Given the description of an element on the screen output the (x, y) to click on. 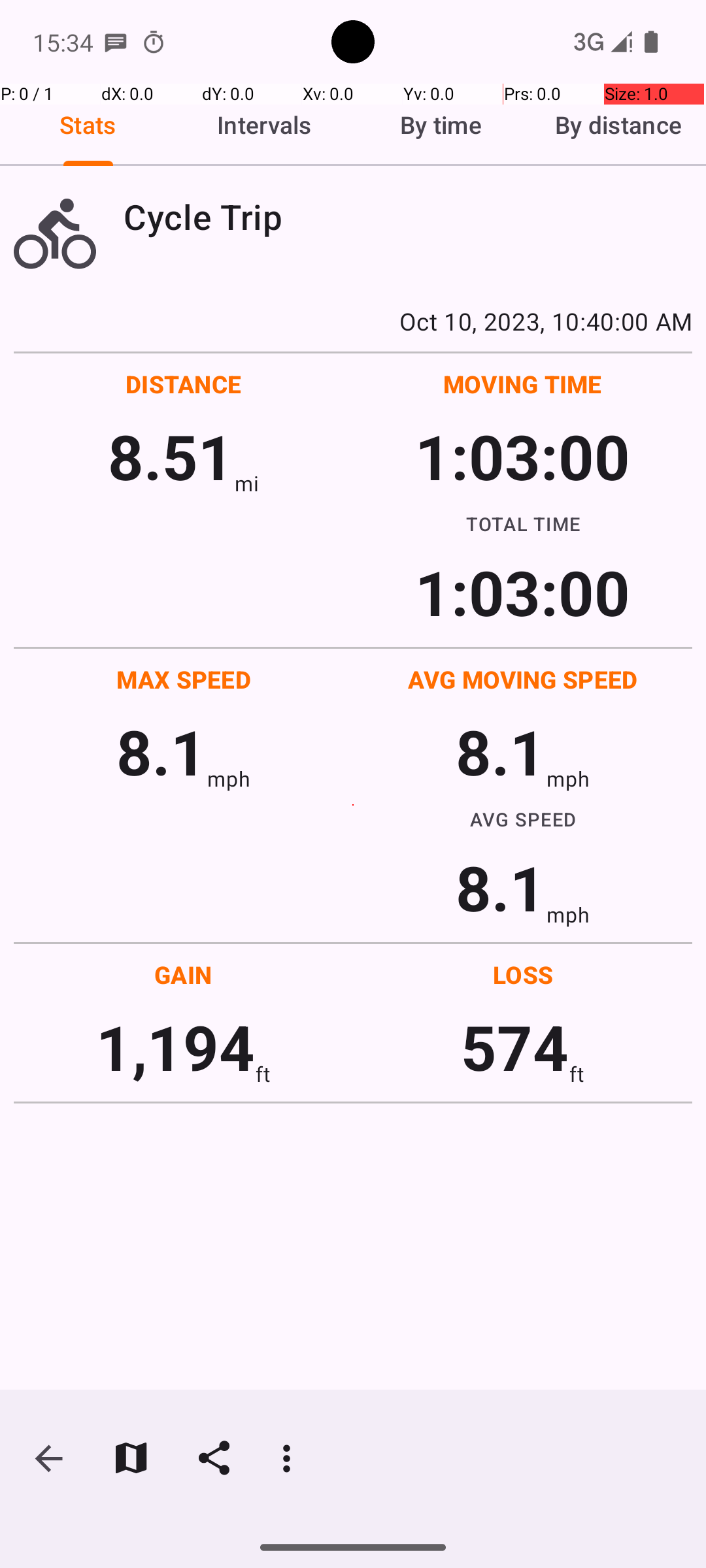
Oct 10, 2023, 10:40:00 AM Element type: android.widget.TextView (352, 320)
8.51 Element type: android.widget.TextView (170, 455)
1:03:00 Element type: android.widget.TextView (522, 455)
8.1 Element type: android.widget.TextView (161, 750)
1,194 Element type: android.widget.TextView (175, 1045)
574 Element type: android.widget.TextView (514, 1045)
